Given the description of an element on the screen output the (x, y) to click on. 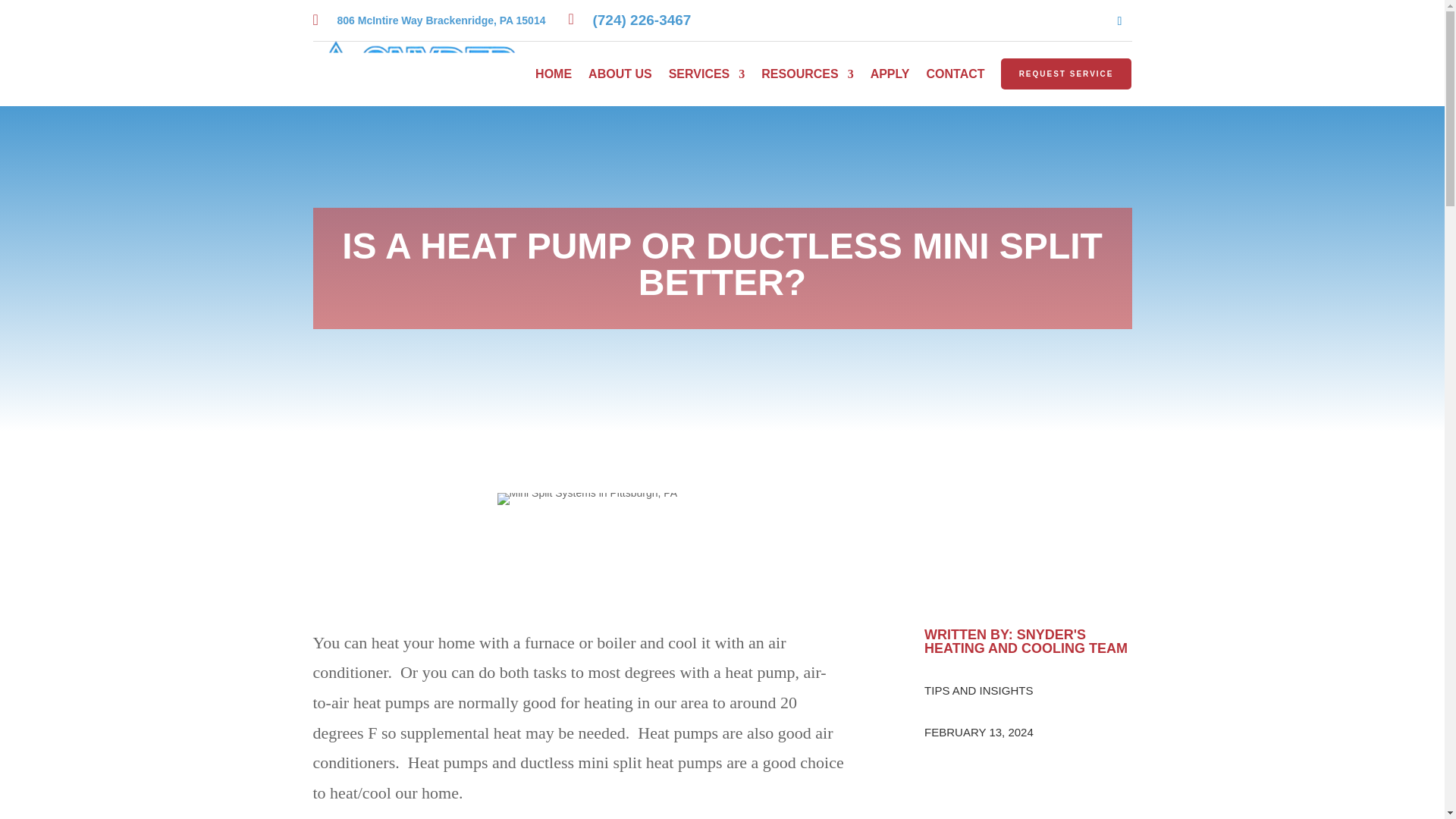
Snyder Heating and Cooling Pittsburgh, PA (587, 499)
RESOURCES (807, 76)
CONTACT (955, 76)
TIPS AND INSIGHTS (978, 689)
ABOUT US (620, 76)
SNYDER'S HEATING AND COOLING TEAM (1025, 641)
Snyder HVAC logo (416, 73)
SERVICES (706, 76)
Follow on Facebook (1118, 21)
HOME (553, 76)
